Given the description of an element on the screen output the (x, y) to click on. 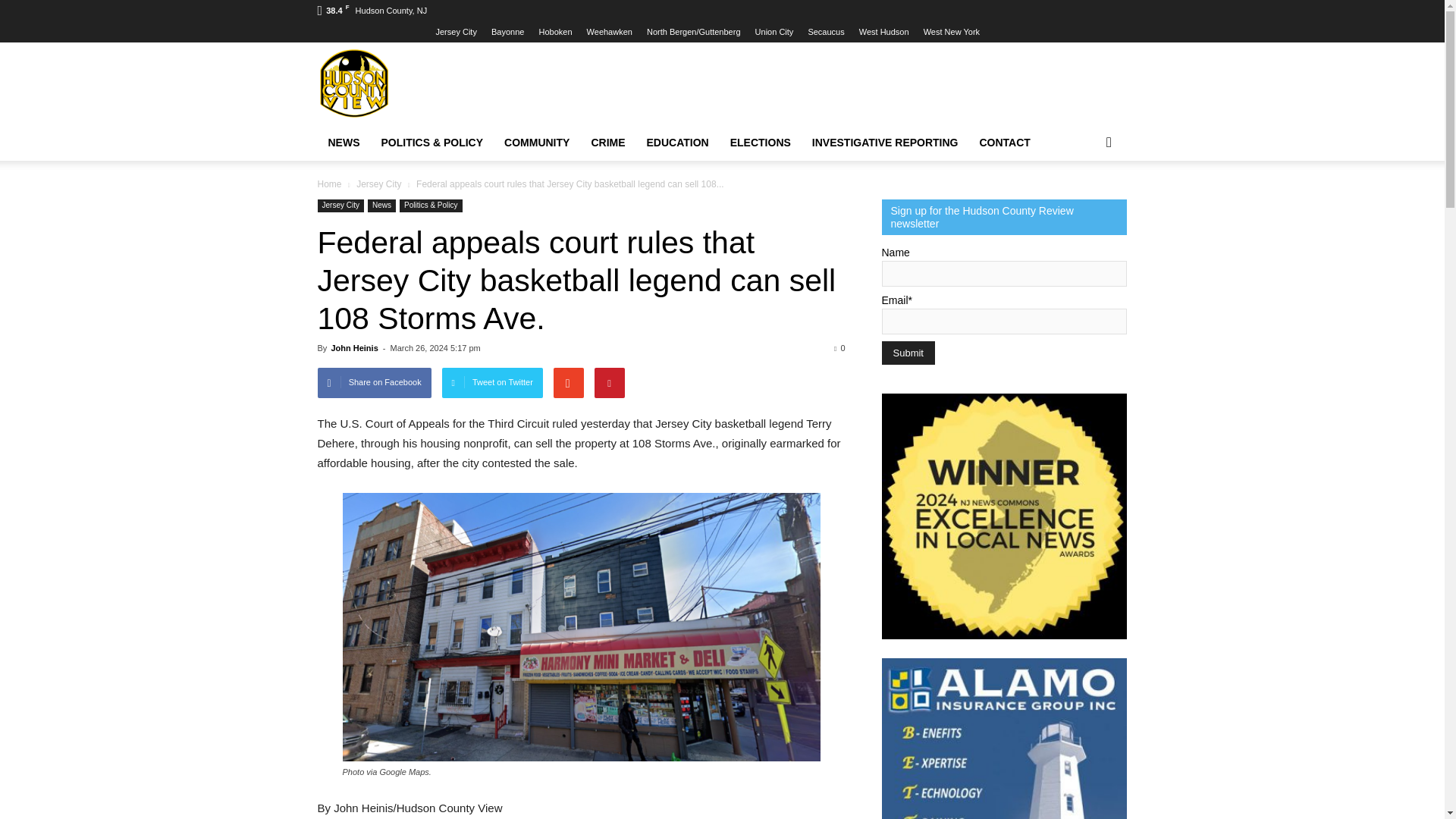
CRIME (606, 142)
West New York (951, 31)
Secaucus (826, 31)
NEWS (343, 142)
COMMUNITY (536, 142)
Hoboken (555, 31)
ELECTIONS (760, 142)
Weehawken (608, 31)
Bayonne (508, 31)
View all posts in Jersey City (380, 184)
West Hudson (883, 31)
EDUCATION (677, 142)
Submit (907, 352)
Jersey City (455, 31)
Union City (774, 31)
